Given the description of an element on the screen output the (x, y) to click on. 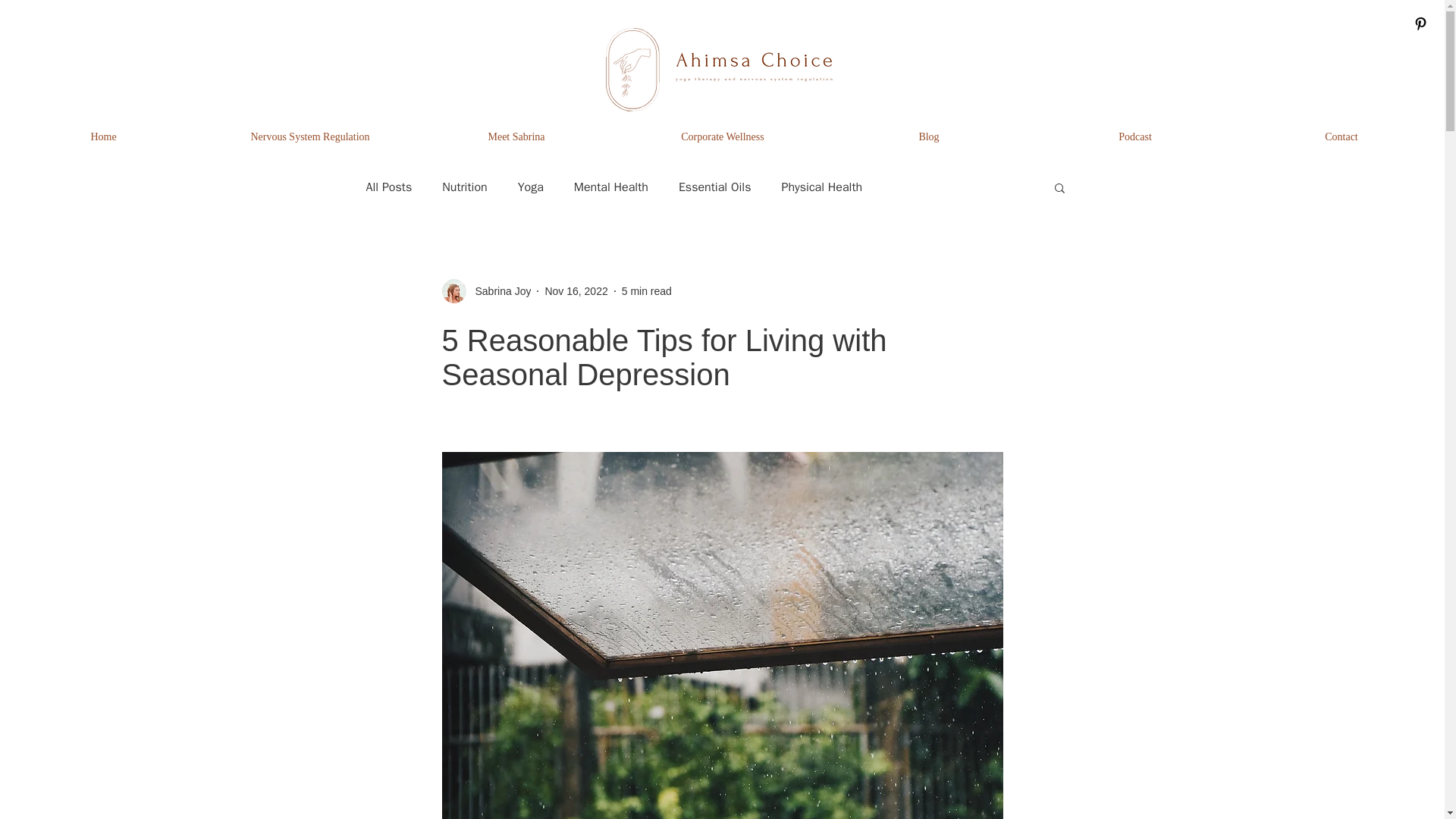
Meet Sabrina (516, 137)
Nov 16, 2022 (575, 291)
Yoga (530, 186)
Sabrina Joy (498, 291)
Corporate Wellness (722, 137)
5 min read (646, 291)
Nervous System Regulation (309, 137)
Physical Health (820, 186)
Home (103, 137)
Blog (928, 137)
